Given the description of an element on the screen output the (x, y) to click on. 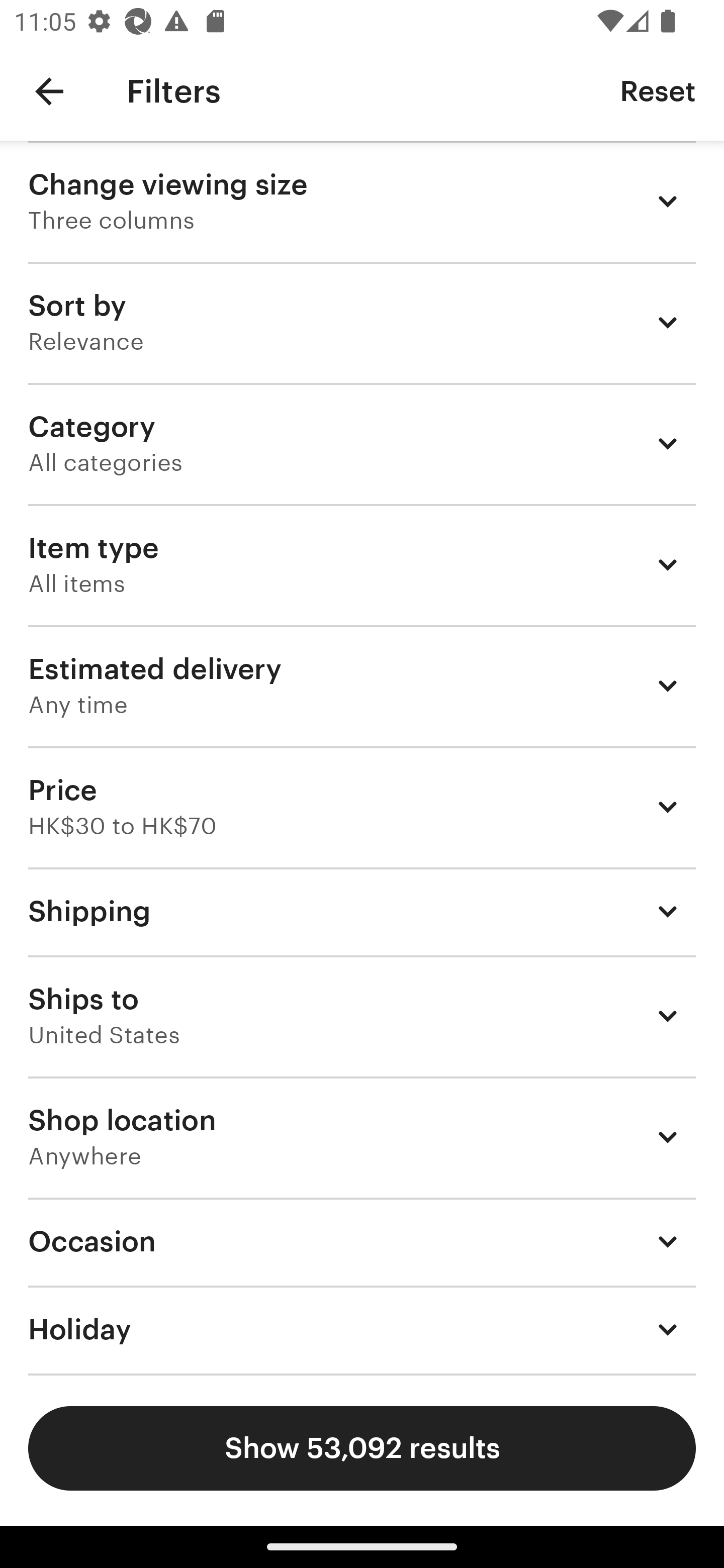
Navigate up (49, 91)
Reset (657, 90)
Change viewing size Three columns (362, 201)
Sort by Relevance (362, 321)
Category All categories (362, 442)
Item type All items (362, 564)
Estimated delivery Any time (362, 685)
Price HK$30 to HK$70 (362, 806)
Shipping (362, 910)
Ships to United States (362, 1015)
Shop location Anywhere (362, 1137)
Occasion (362, 1241)
Holiday (362, 1329)
Show 53,092 results Show results (361, 1448)
